Given the description of an element on the screen output the (x, y) to click on. 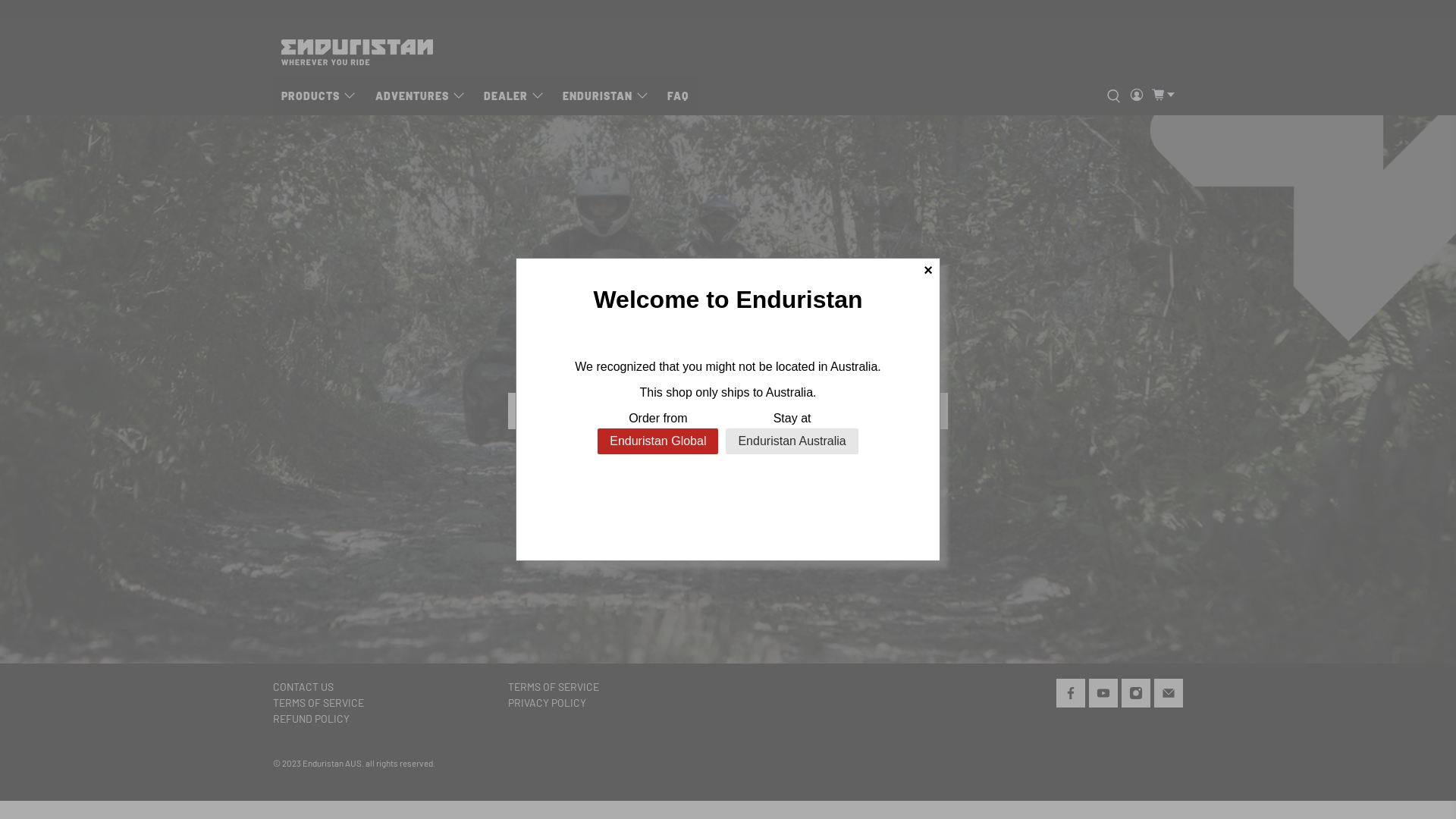
REFUND POLICY Element type: text (311, 718)
continue shopping Element type: text (782, 366)
ADVENTURES Element type: text (420, 94)
Enduristan AUS Element type: hover (357, 52)
ENDURISTAN Element type: text (606, 94)
Enduristan AUS Element type: text (331, 762)
CONTACT US Element type: text (303, 686)
Enduristan AUS on YouTube Element type: hover (1103, 695)
Enduristan AUS on Instagram Element type: hover (1135, 695)
TERMS OF SERVICE Element type: text (318, 702)
PRIVACY POLICY Element type: text (547, 702)
FAQ Element type: text (677, 94)
Enduristan AUS on Facebook Element type: hover (1070, 695)
Email Enduristan AUS Element type: hover (1168, 695)
DEALER Element type: text (513, 94)
PRODUCTS Element type: text (319, 94)
TERMS OF SERVICE Element type: text (553, 686)
